Given the description of an element on the screen output the (x, y) to click on. 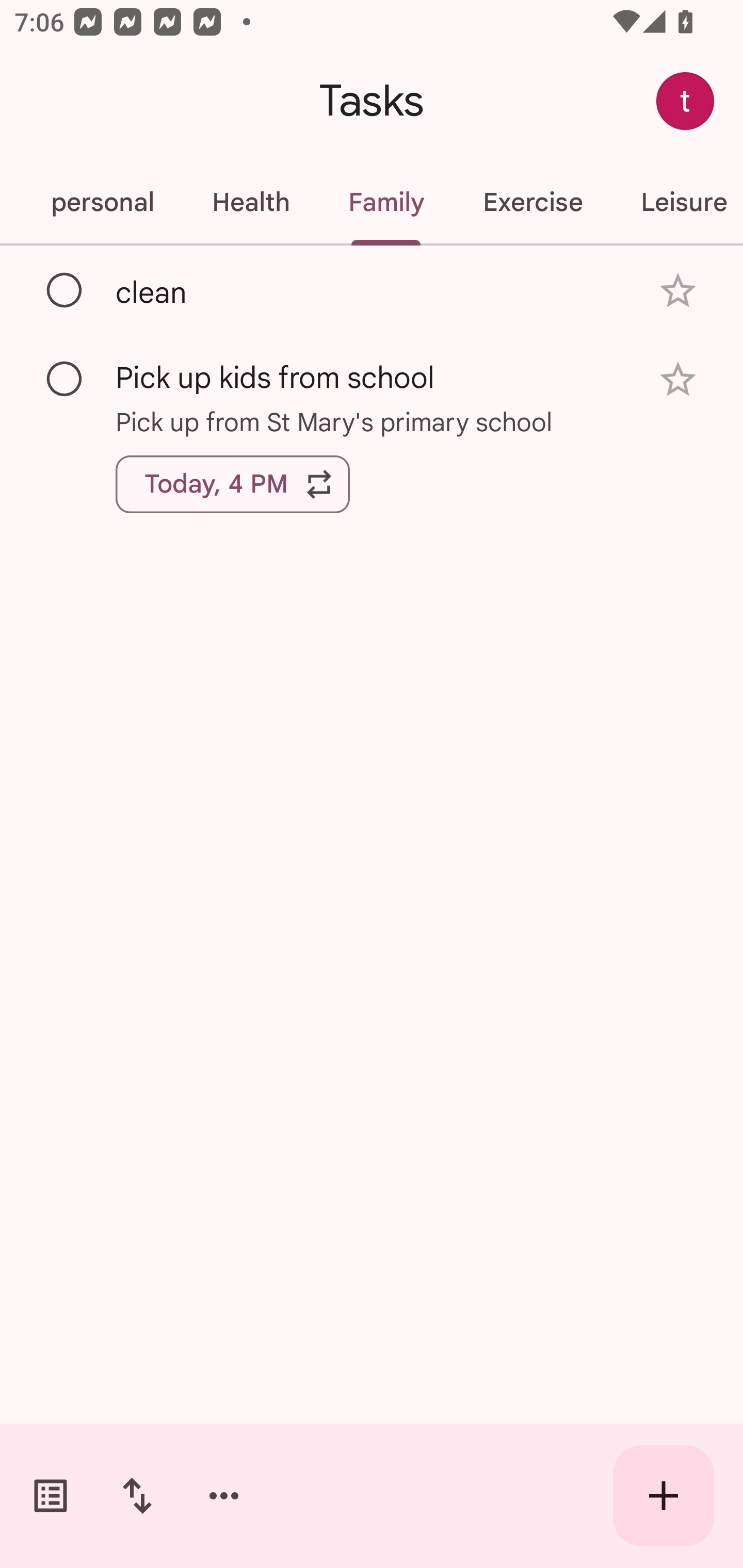
personal (101, 202)
Health (250, 202)
Exercise (532, 202)
Leisure (677, 202)
clean clean Add star Mark as complete (371, 289)
Add star (677, 290)
Mark as complete (64, 290)
Add star (677, 379)
Mark as complete (64, 379)
Pick up from St Mary's primary school (371, 421)
Today, 4 PM (232, 484)
Switch task lists (50, 1495)
Create new task (663, 1495)
Change sort order (136, 1495)
More options (223, 1495)
